Given the description of an element on the screen output the (x, y) to click on. 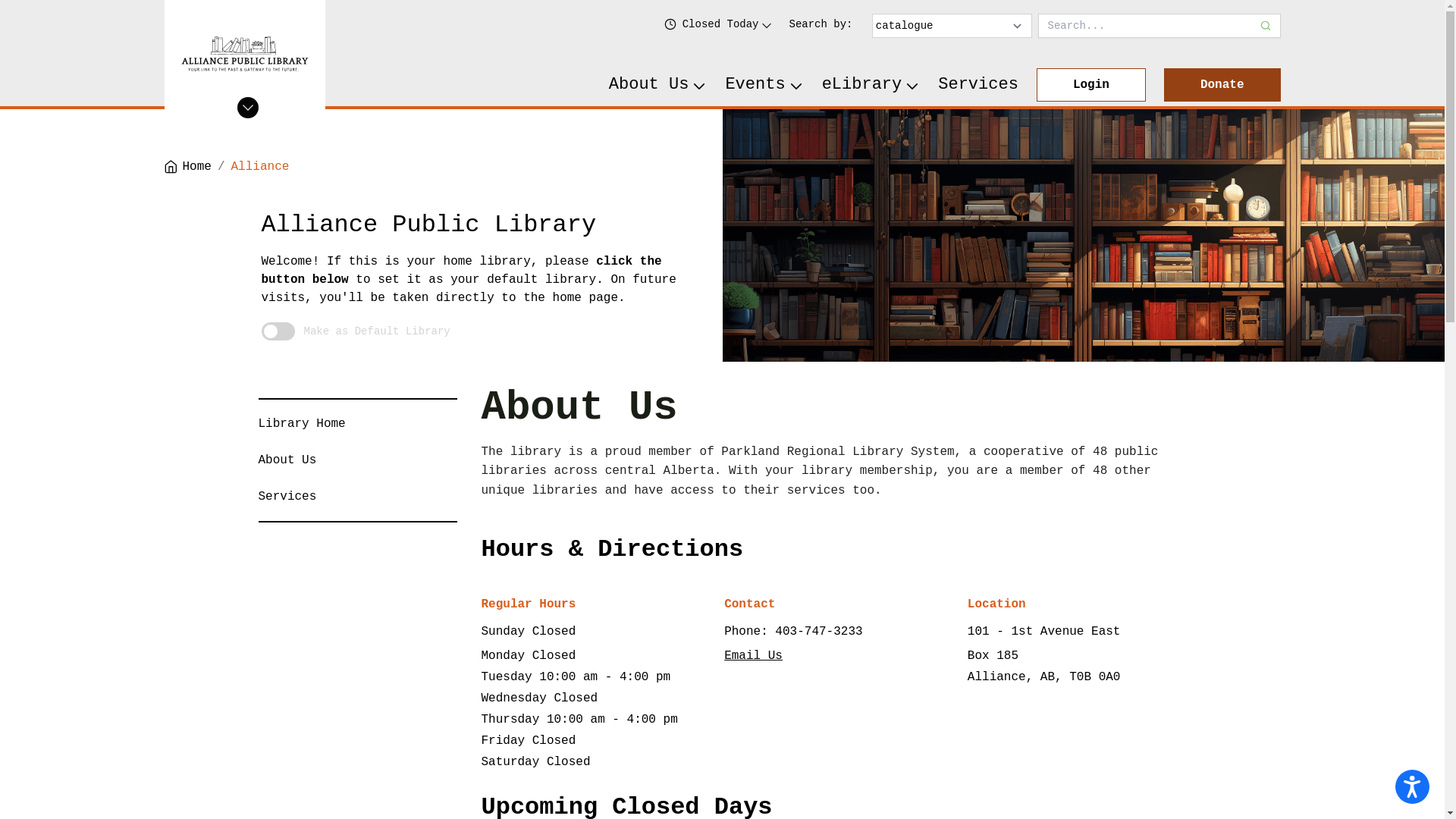
Library Home Element type: text (301, 423)
Donate Element type: text (1222, 84)
Login Element type: text (1090, 84)
eLibrary Element type: text (871, 84)
Home Element type: text (186, 166)
Events Element type: text (763, 84)
Alliance Element type: text (260, 166)
Services Element type: text (286, 496)
About Us Element type: text (657, 84)
Email Us Element type: text (753, 655)
Services Element type: text (978, 84)
About Us Element type: text (286, 460)
